Given the description of an element on the screen output the (x, y) to click on. 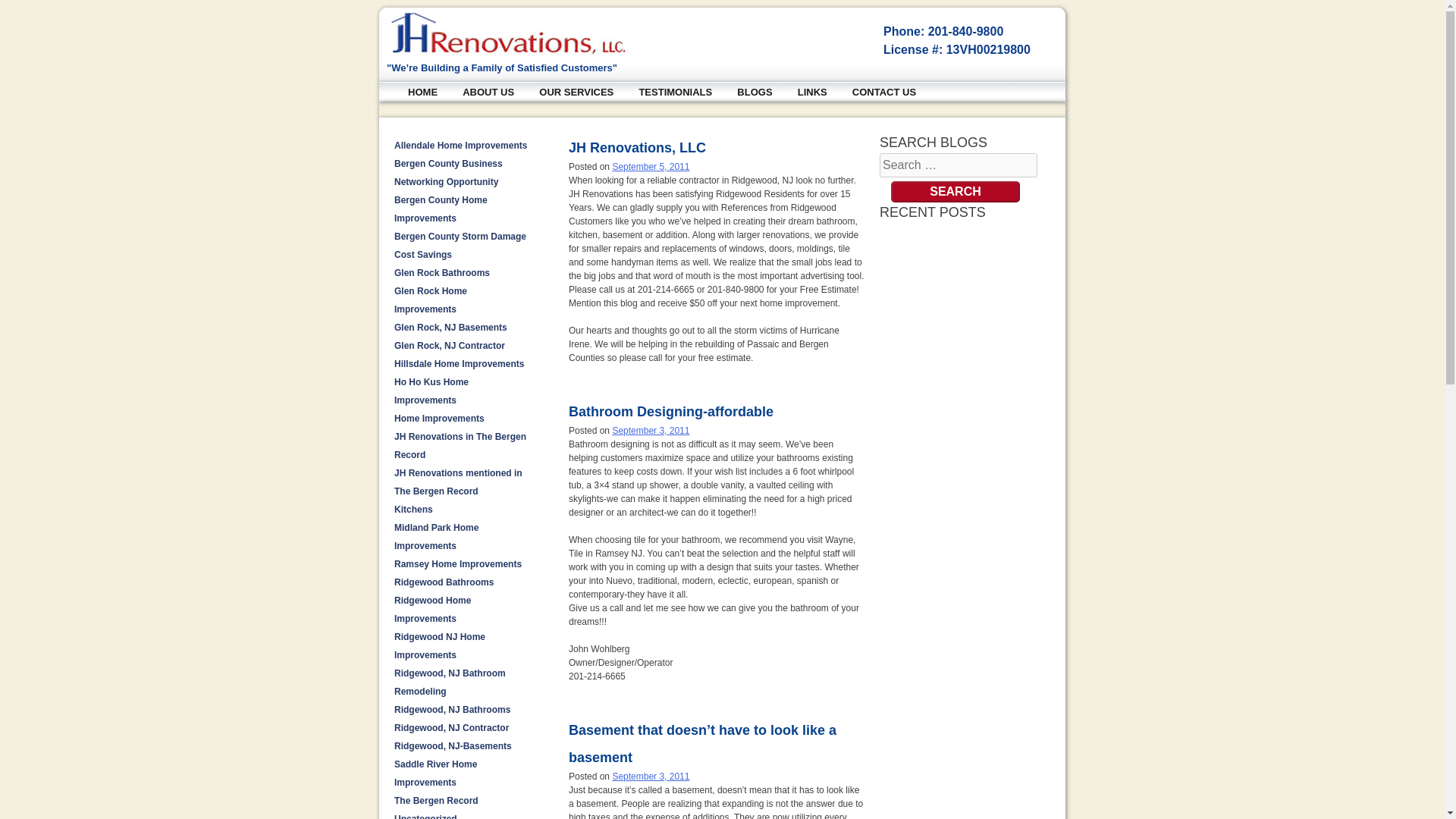
BLOGS (753, 92)
Ridgewood, NJ-Basements (453, 746)
Home Improvements (439, 418)
CONTACT US (883, 92)
Bergen County Home Improvements (440, 208)
Uncategorized (425, 816)
The Bergen Record (436, 800)
Glen Rock, NJ Contractor (449, 345)
Bergen County Storm Damage (459, 235)
Midland Park Home Improvements (436, 536)
